Given the description of an element on the screen output the (x, y) to click on. 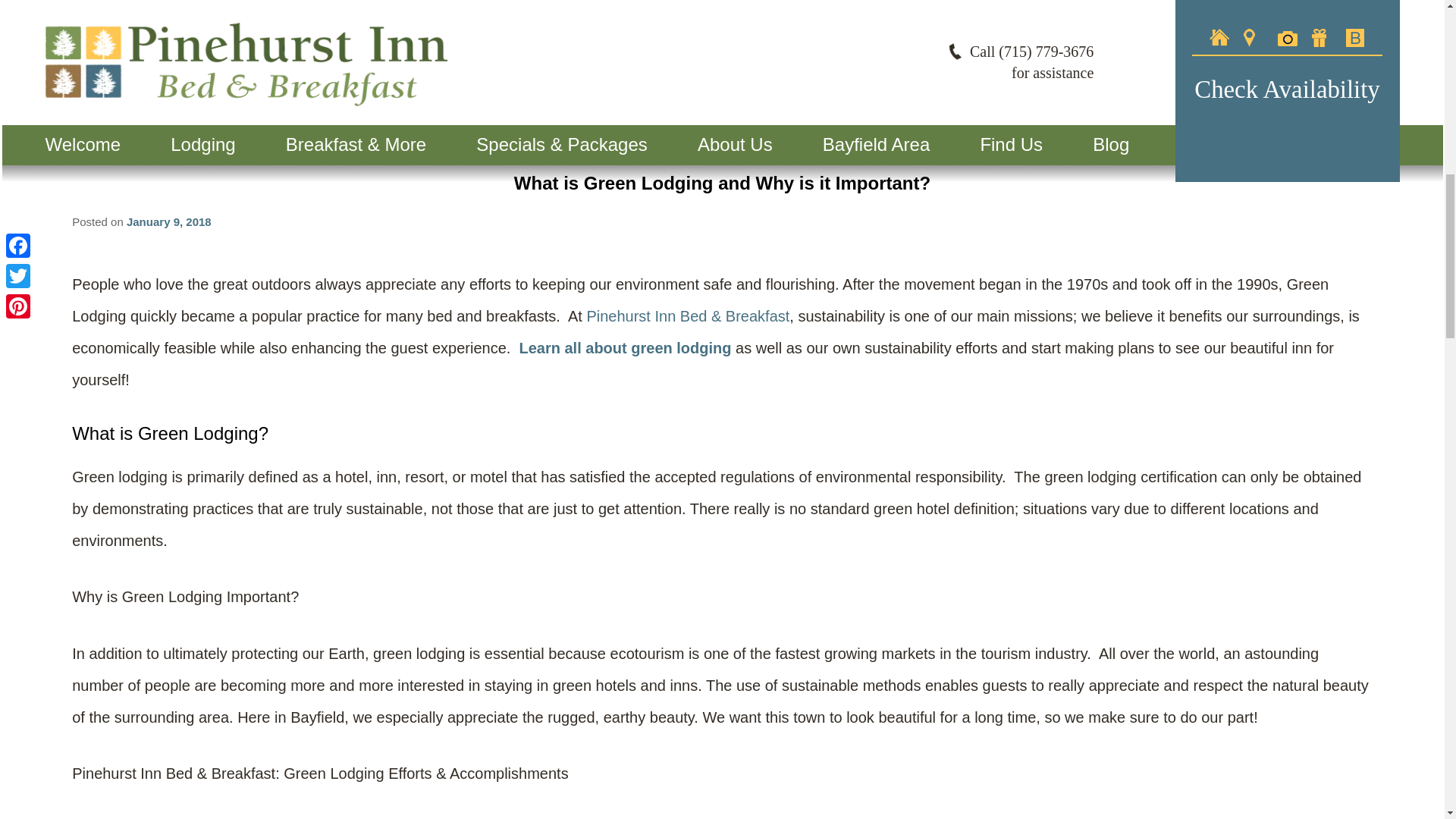
12:00 pm (168, 221)
